Given the description of an element on the screen output the (x, y) to click on. 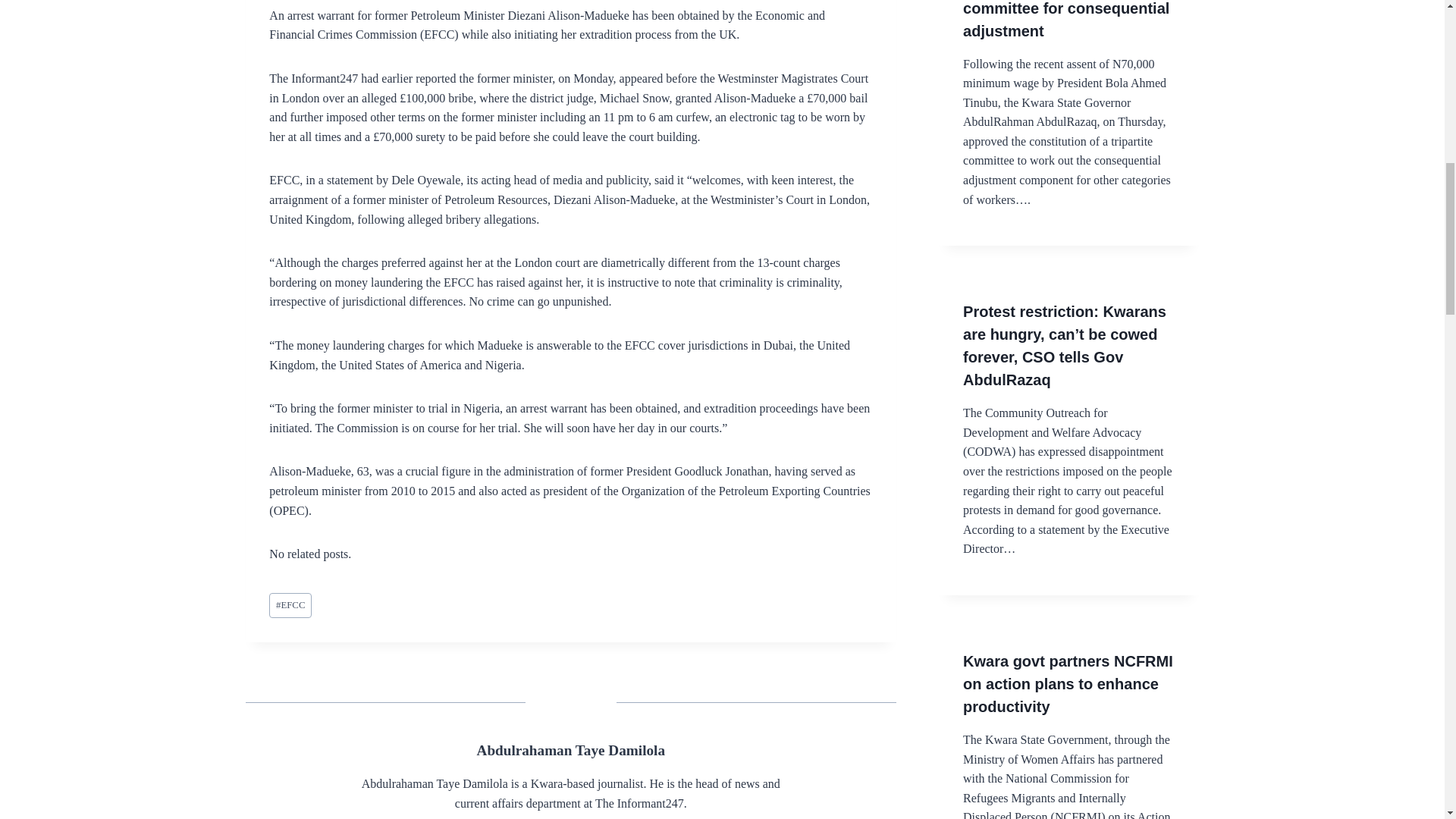
EFCC (290, 605)
Abdulrahaman Taye Damilola (571, 750)
Posts by Abdulrahaman Taye Damilola (571, 750)
